Given the description of an element on the screen output the (x, y) to click on. 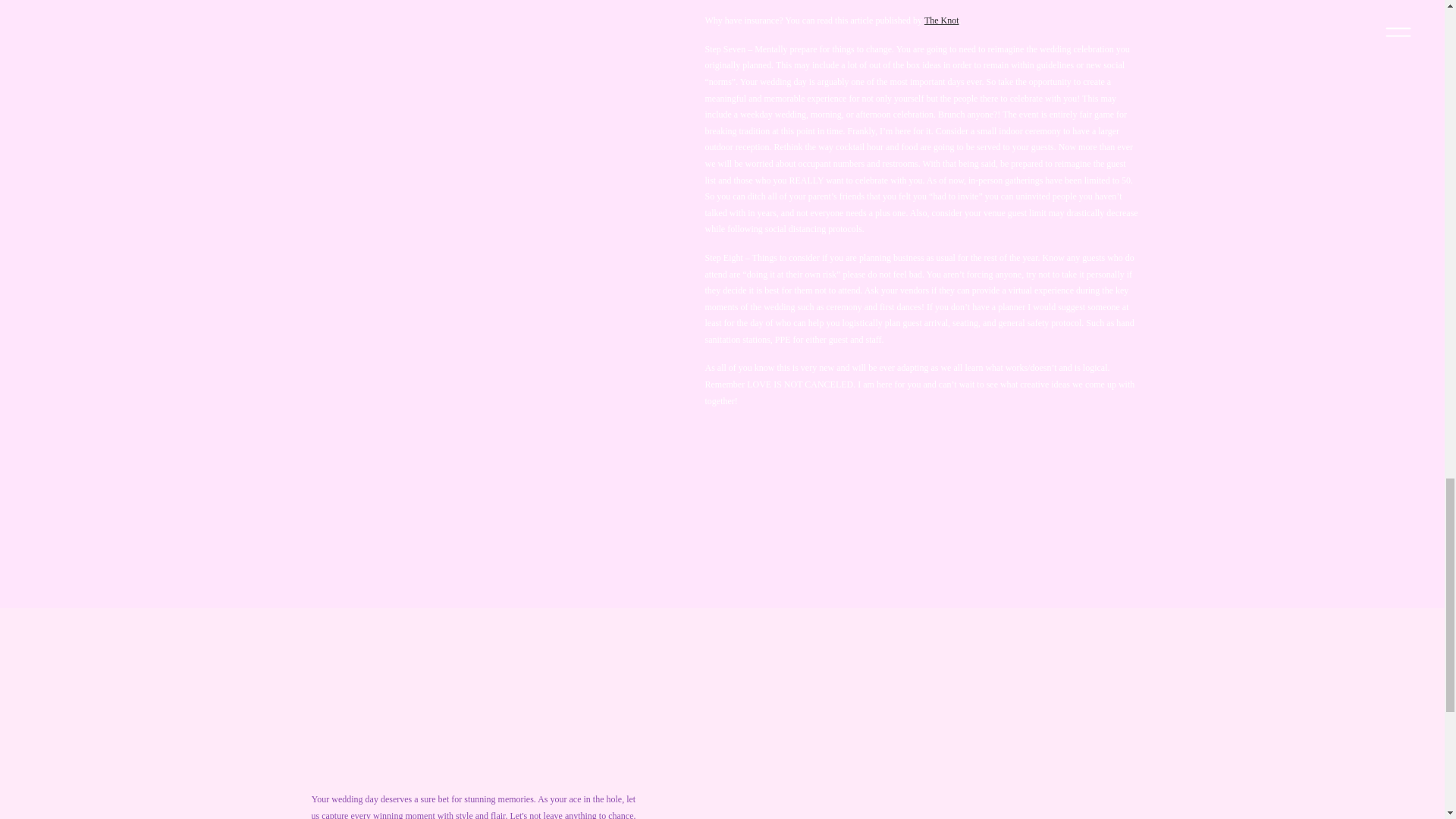
The Knot (941, 20)
